Given the description of an element on the screen output the (x, y) to click on. 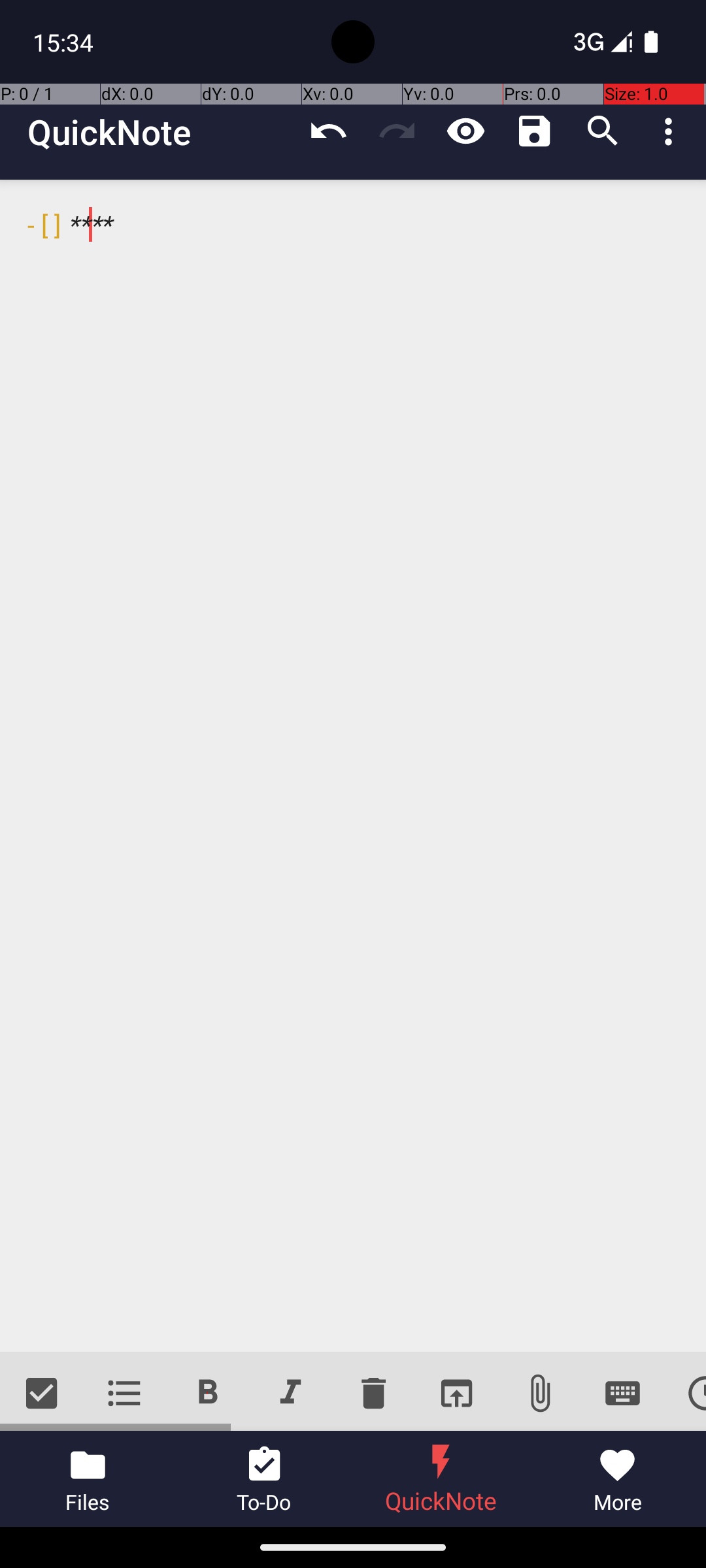
- [ ] **** Element type: android.widget.EditText (353, 765)
